Given the description of an element on the screen output the (x, y) to click on. 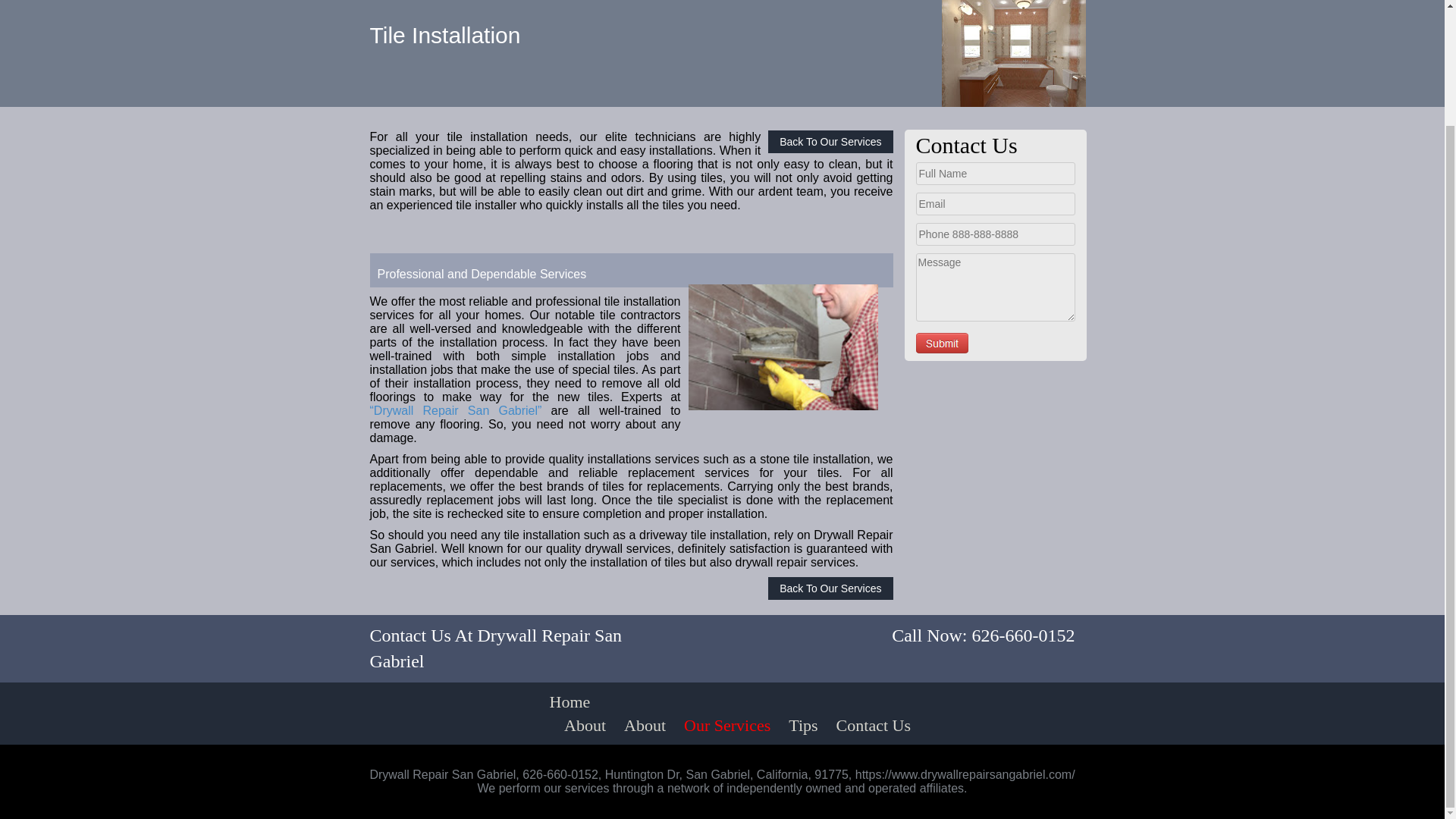
Back To Our Services (830, 141)
Tile Installation in San Gabriel (782, 347)
Our Services (726, 725)
Home (569, 701)
About (584, 725)
Tips (802, 725)
About (644, 725)
Back To Our Services (830, 588)
Contact Us (873, 725)
